Given the description of an element on the screen output the (x, y) to click on. 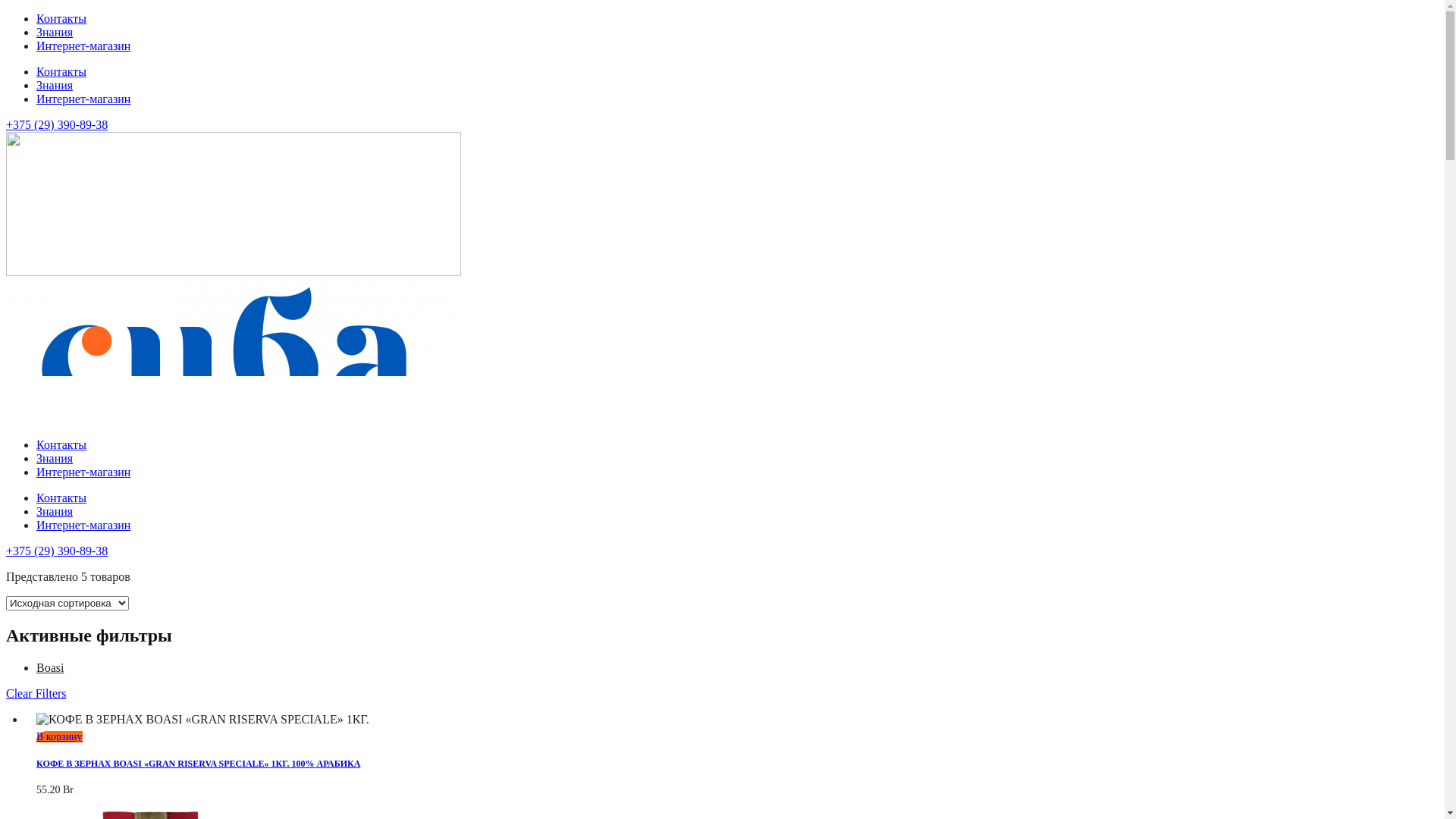
+375 (29) 390-89-38 Element type: text (56, 550)
Clear Filters Element type: text (36, 693)
+375 (29) 390-89-38 Element type: text (56, 124)
Boasi Element type: text (49, 667)
